Given the description of an element on the screen output the (x, y) to click on. 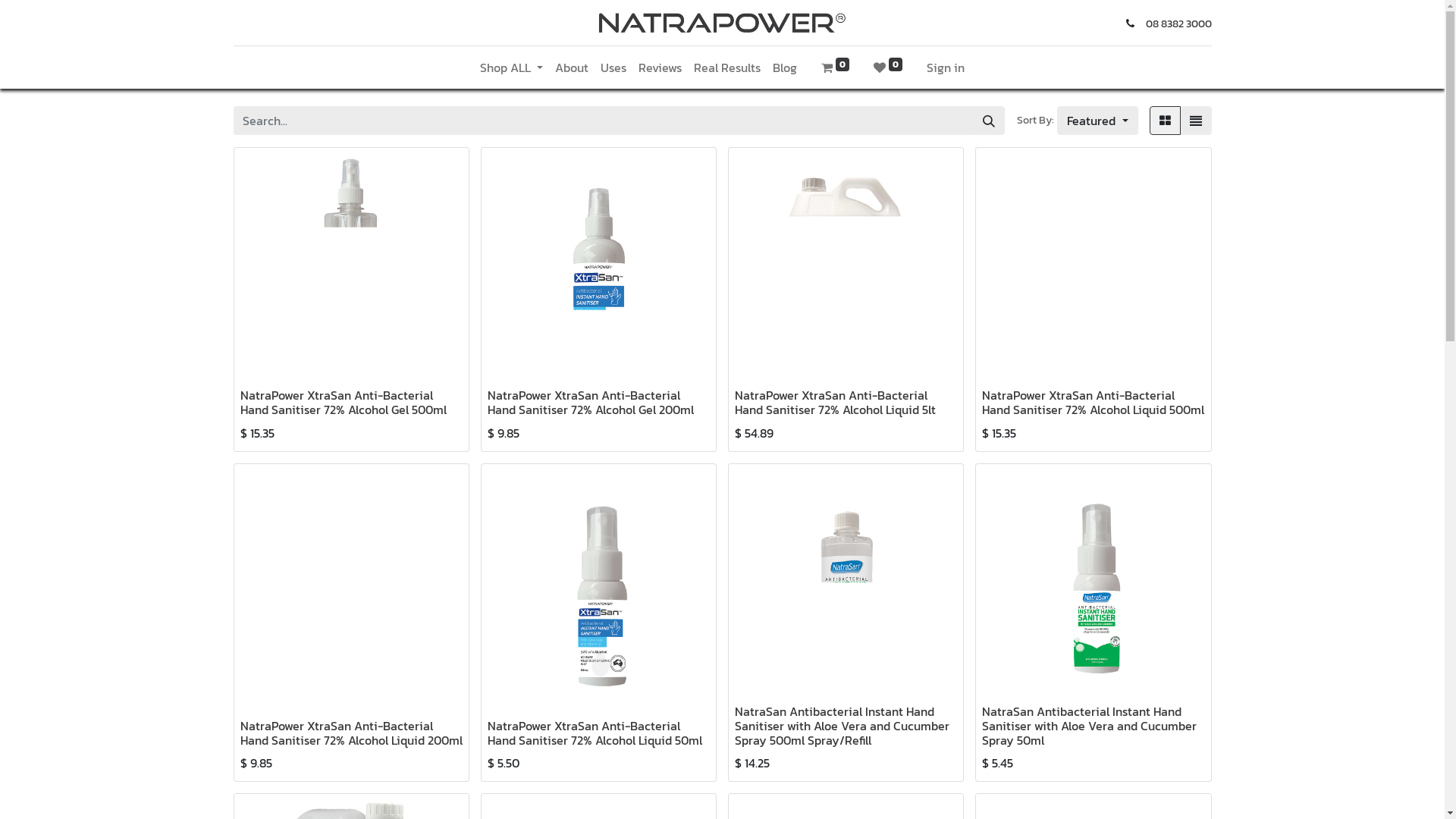
0 Element type: text (835, 67)
Grid Element type: hover (1164, 120)
Real Results Element type: text (726, 67)
Uses Element type: text (613, 67)
Search Element type: hover (988, 120)
Natrapower Element type: hover (721, 22)
About Element type: text (571, 67)
Reviews Element type: text (659, 67)
Blog Element type: text (784, 67)
08 8382 3000 Element type: text (1178, 23)
Featured Element type: text (1097, 120)
Shop ALL Element type: text (511, 67)
List Element type: hover (1195, 120)
0 Element type: text (887, 67)
Sign in Element type: text (945, 67)
